Given the description of an element on the screen output the (x, y) to click on. 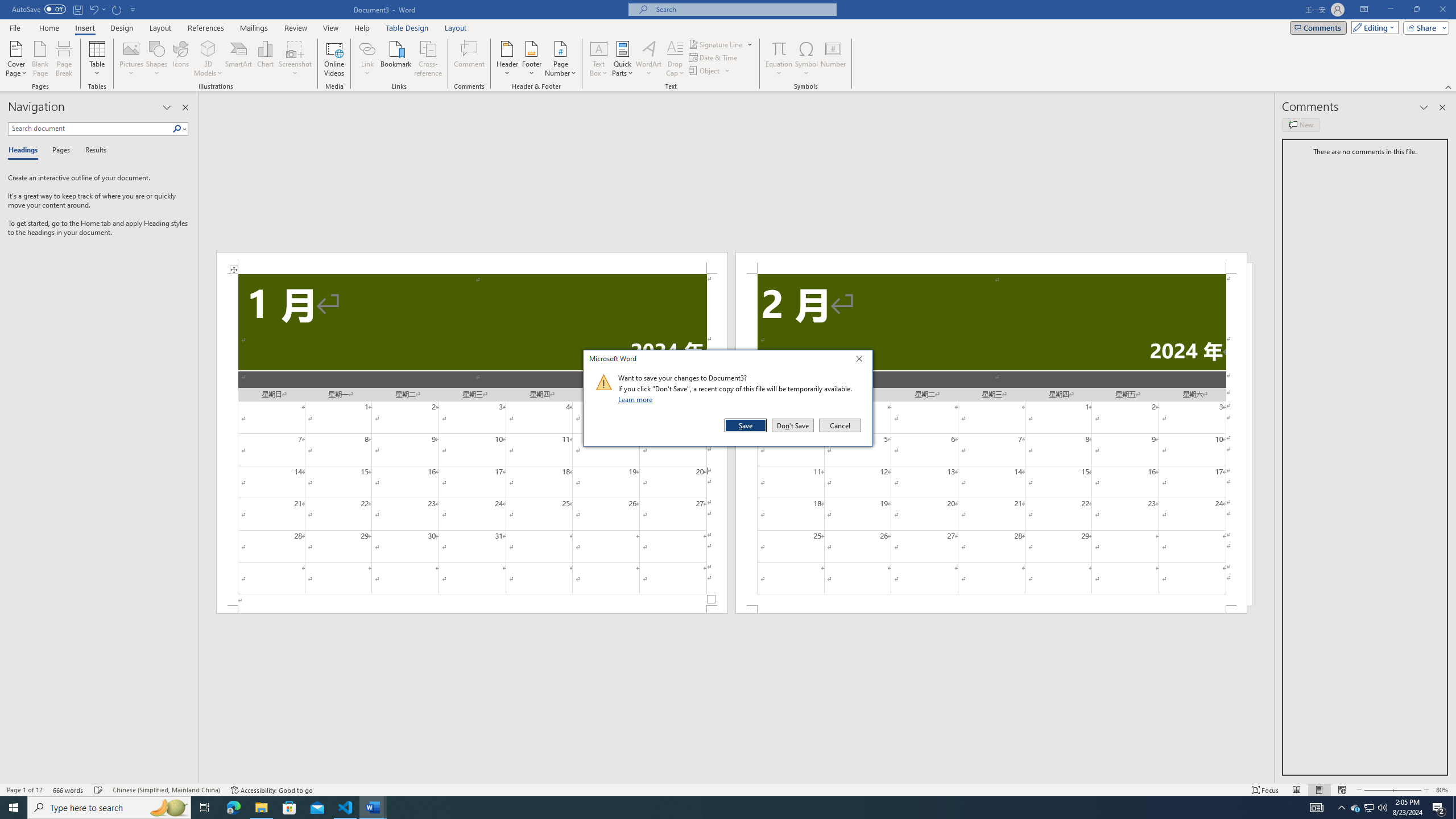
Search (177, 128)
Drop Cap (674, 58)
Signature Line (716, 44)
Task Pane Options (167, 107)
Read Mode (1296, 790)
WordArt (648, 58)
Layout (455, 28)
Focus  (1265, 790)
Microsoft Store (289, 807)
Restore Down (1416, 9)
Start (13, 807)
Screenshot (295, 58)
Pages (59, 150)
Mode (1372, 27)
